Given the description of an element on the screen output the (x, y) to click on. 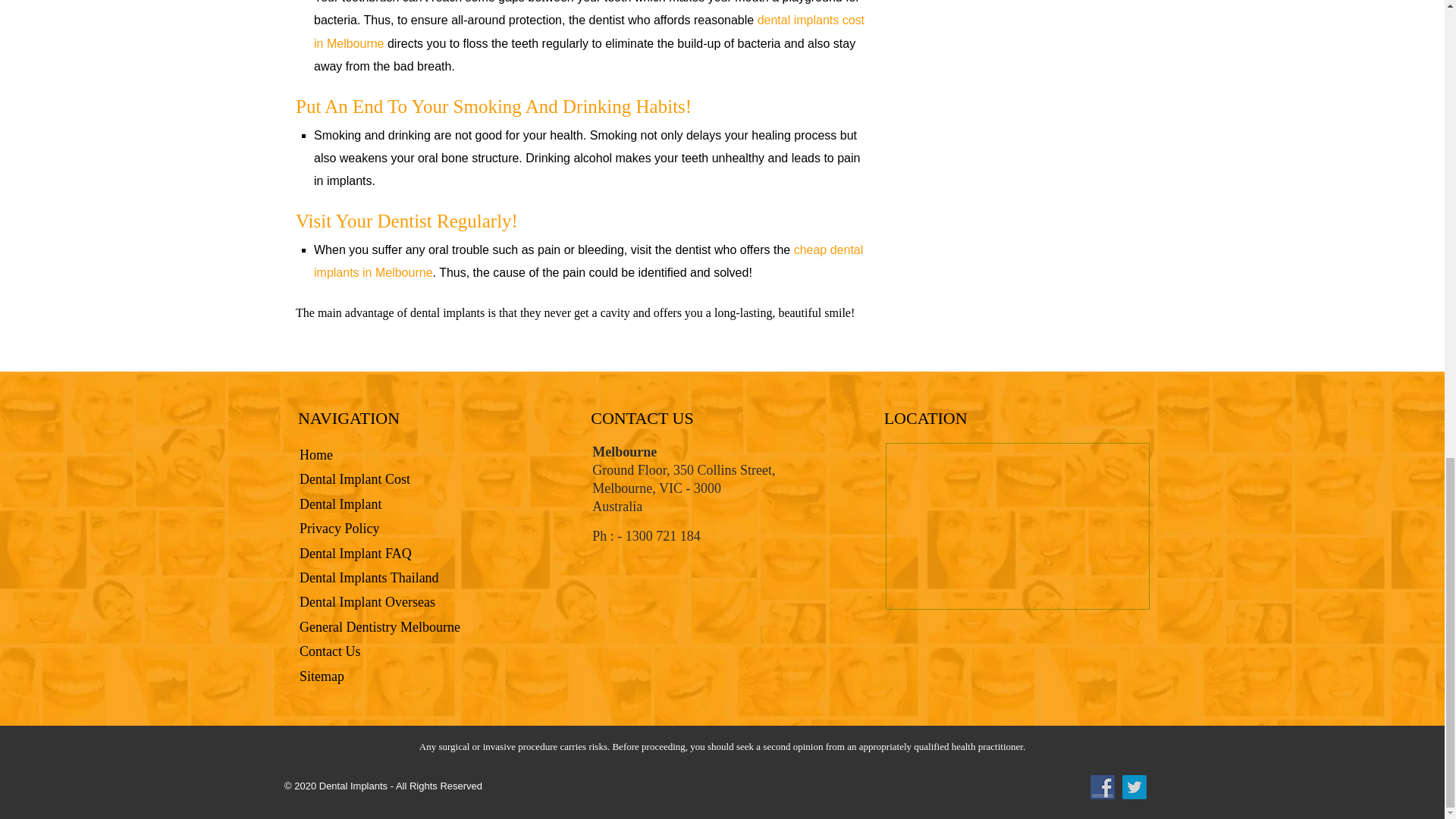
Dental Implants Thailand (369, 577)
General Dentistry Melbourne (379, 626)
Dental Implant Cost (354, 478)
Dental Implant Overseas (367, 601)
Dental Implant (340, 503)
Privacy Policy (339, 528)
Dental Implant FAQ (355, 553)
Sitemap (321, 676)
Home (316, 454)
1300 721 184 (663, 535)
